Given the description of an element on the screen output the (x, y) to click on. 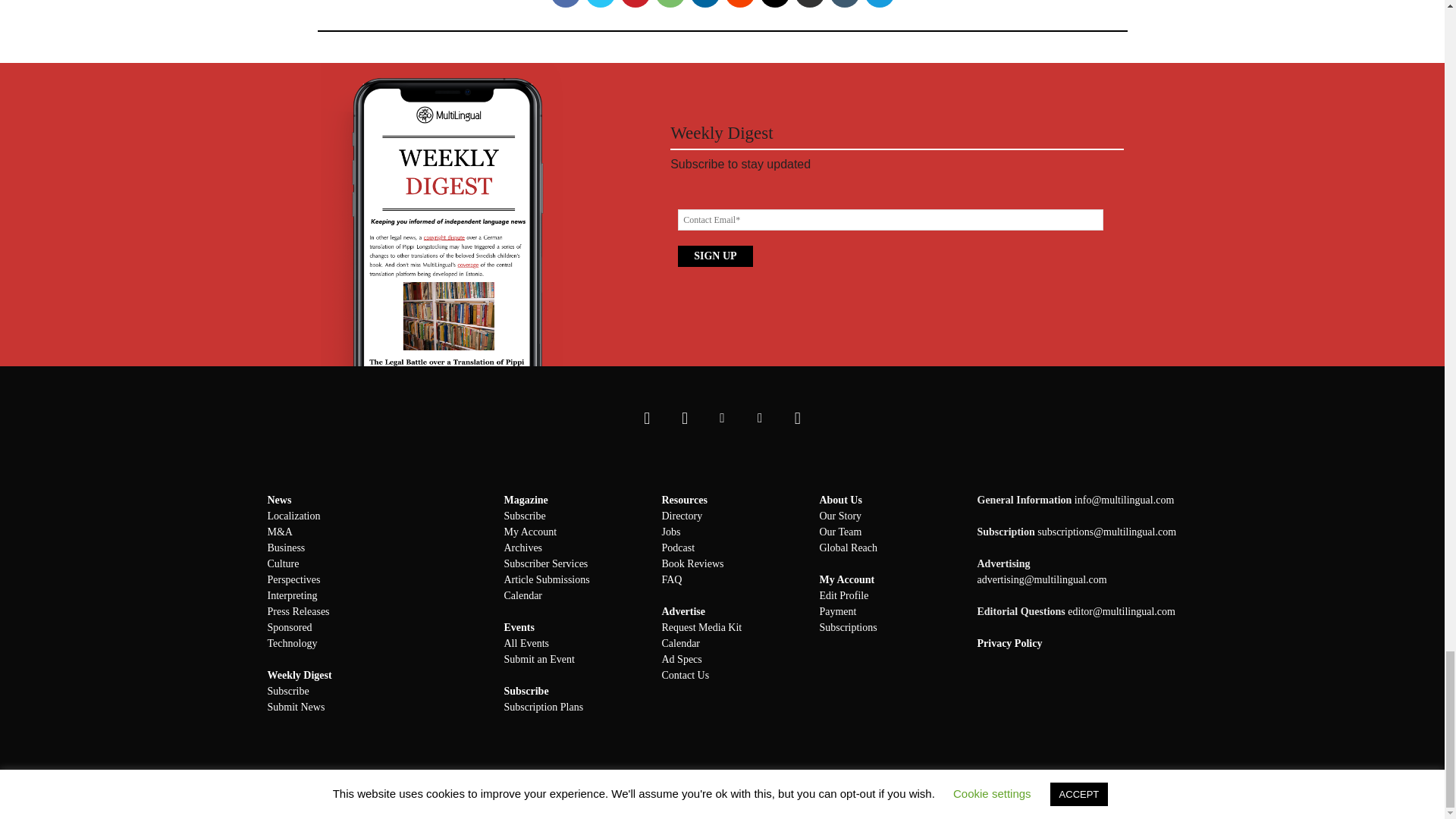
SIGN UP (715, 255)
